Given the description of an element on the screen output the (x, y) to click on. 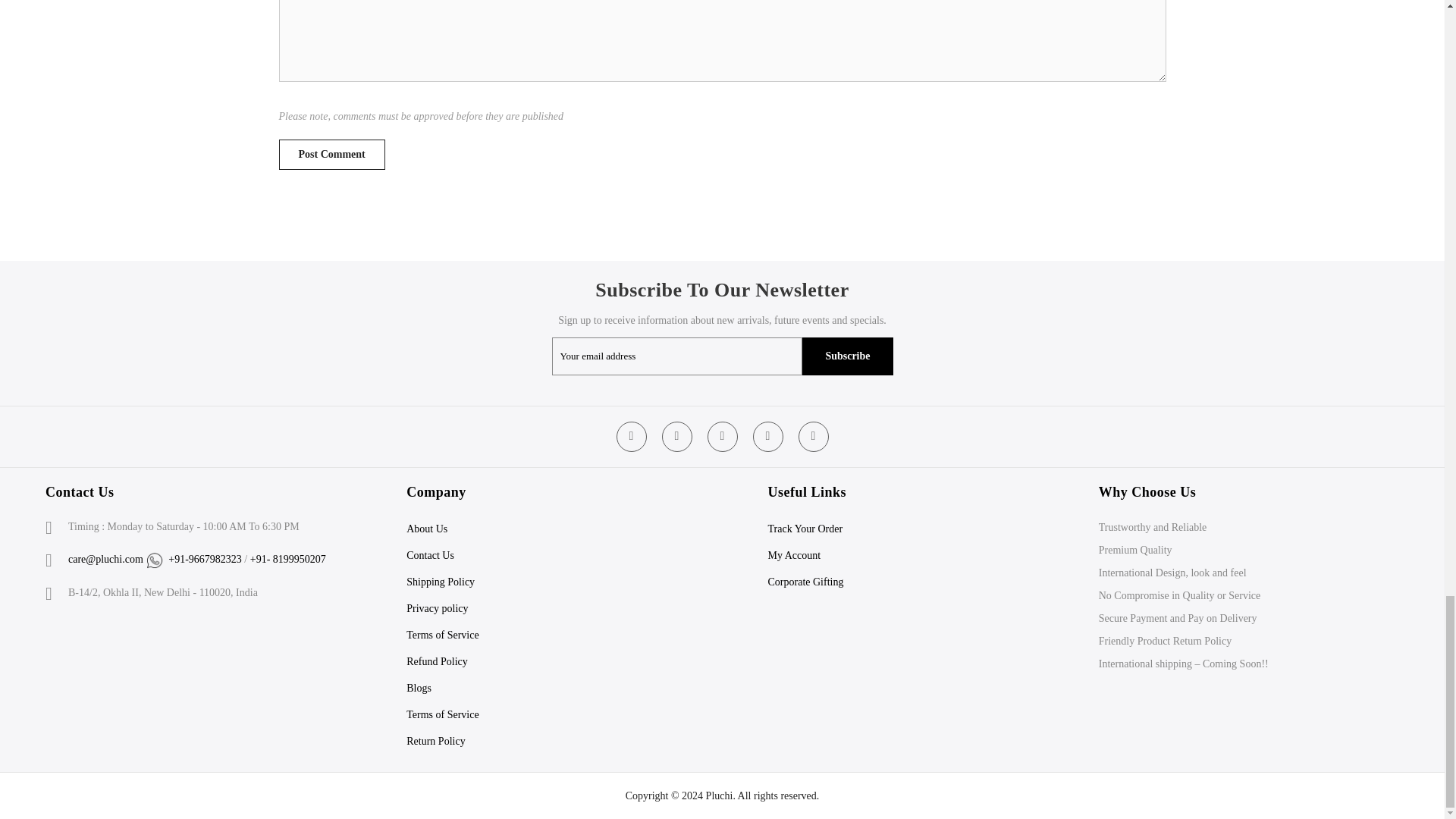
Post Comment (332, 154)
